Given the description of an element on the screen output the (x, y) to click on. 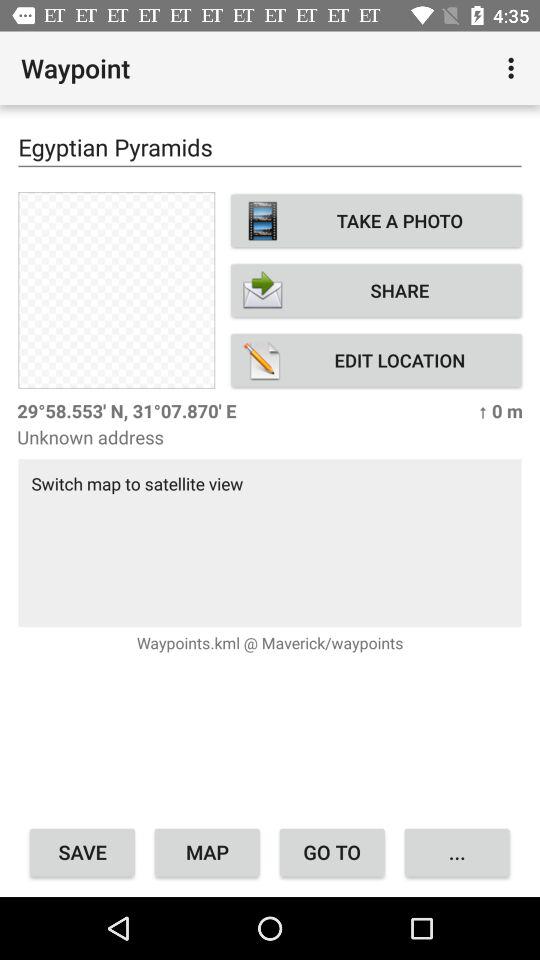
tap share icon (375, 290)
